Given the description of an element on the screen output the (x, y) to click on. 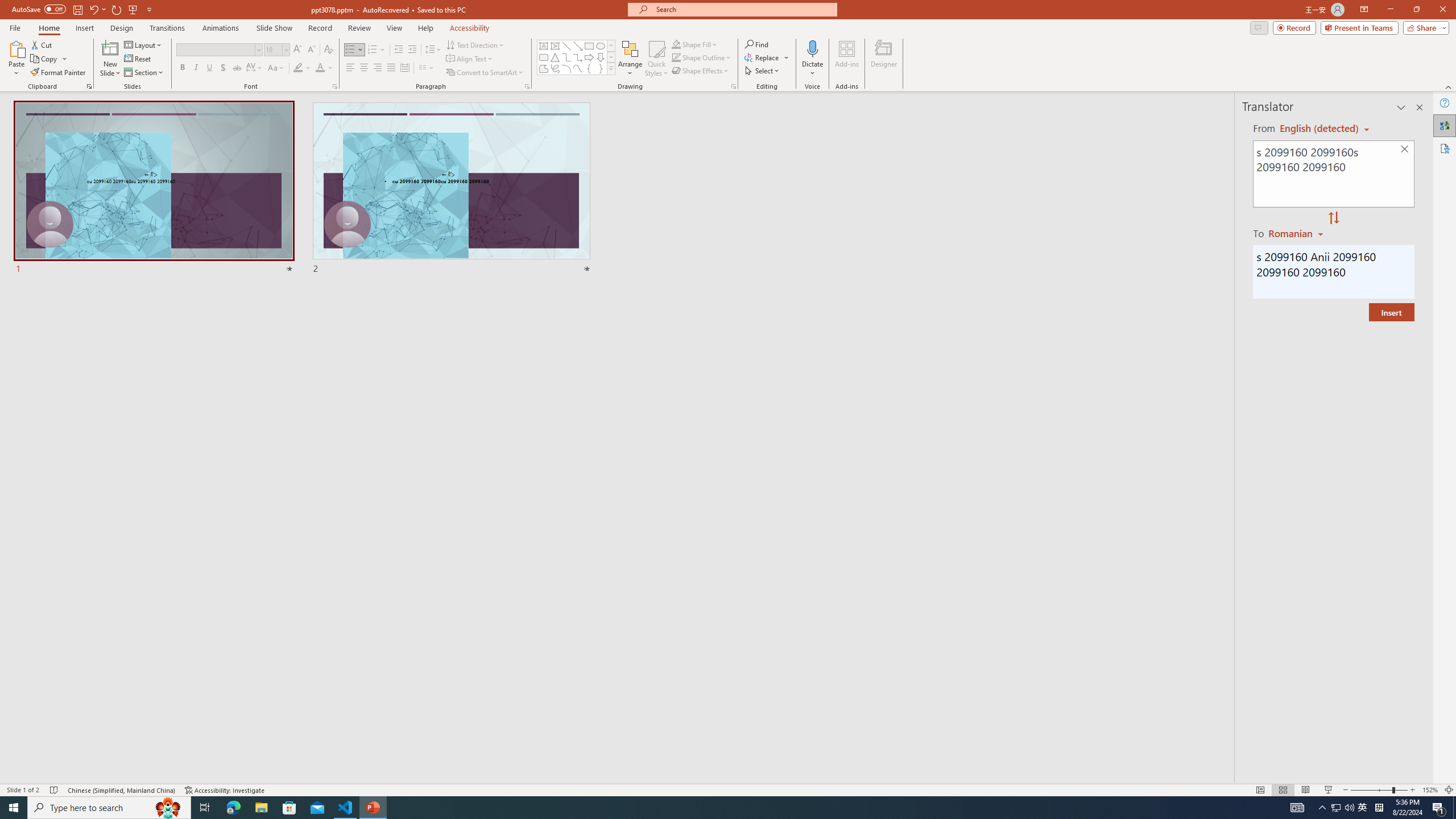
Align Right (377, 67)
Cut (42, 44)
Text Direction (476, 44)
Shapes (611, 68)
Shadow (223, 67)
